Given the description of an element on the screen output the (x, y) to click on. 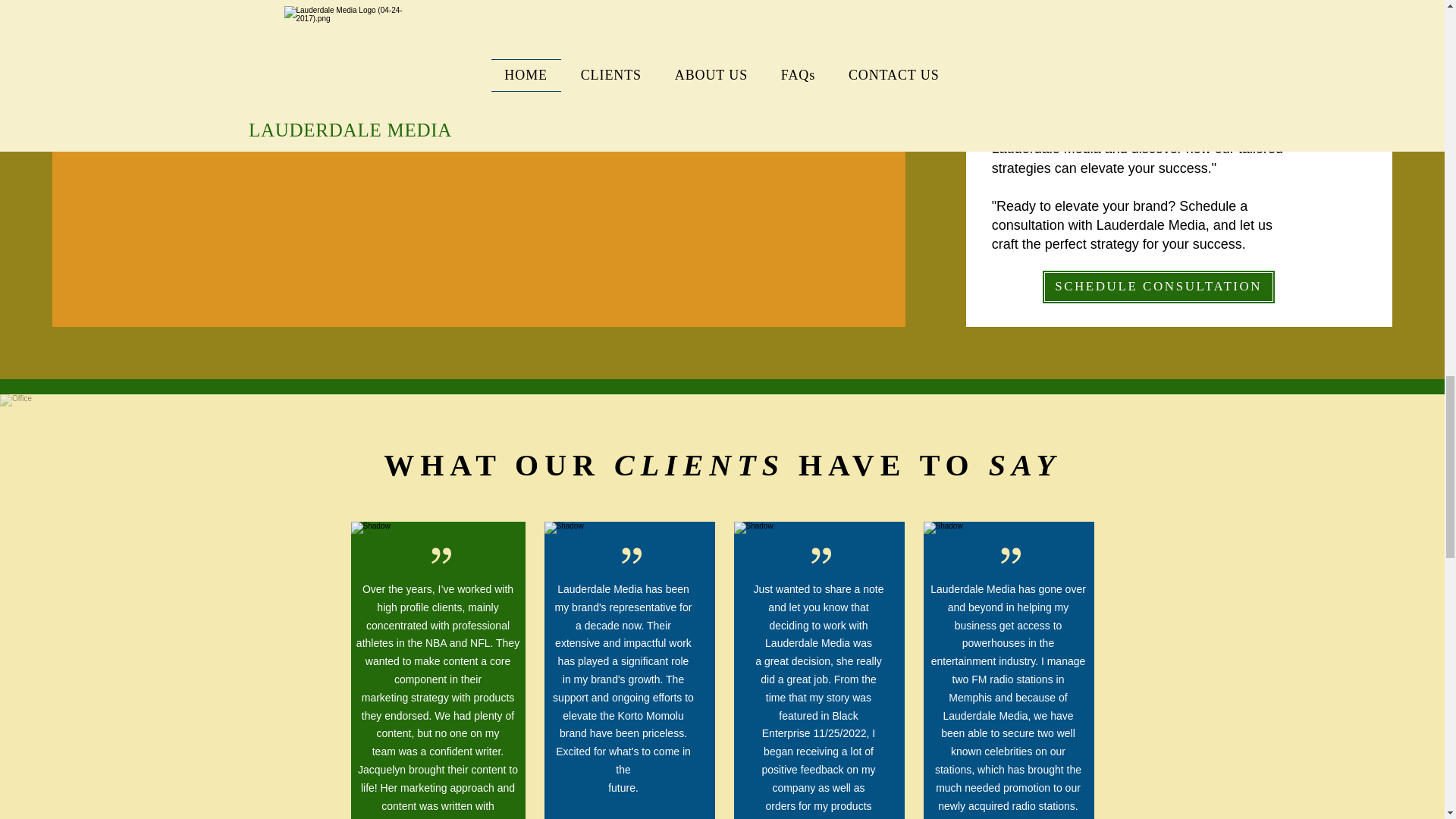
SCHEDULE CONSULTATION (1158, 286)
